Given the description of an element on the screen output the (x, y) to click on. 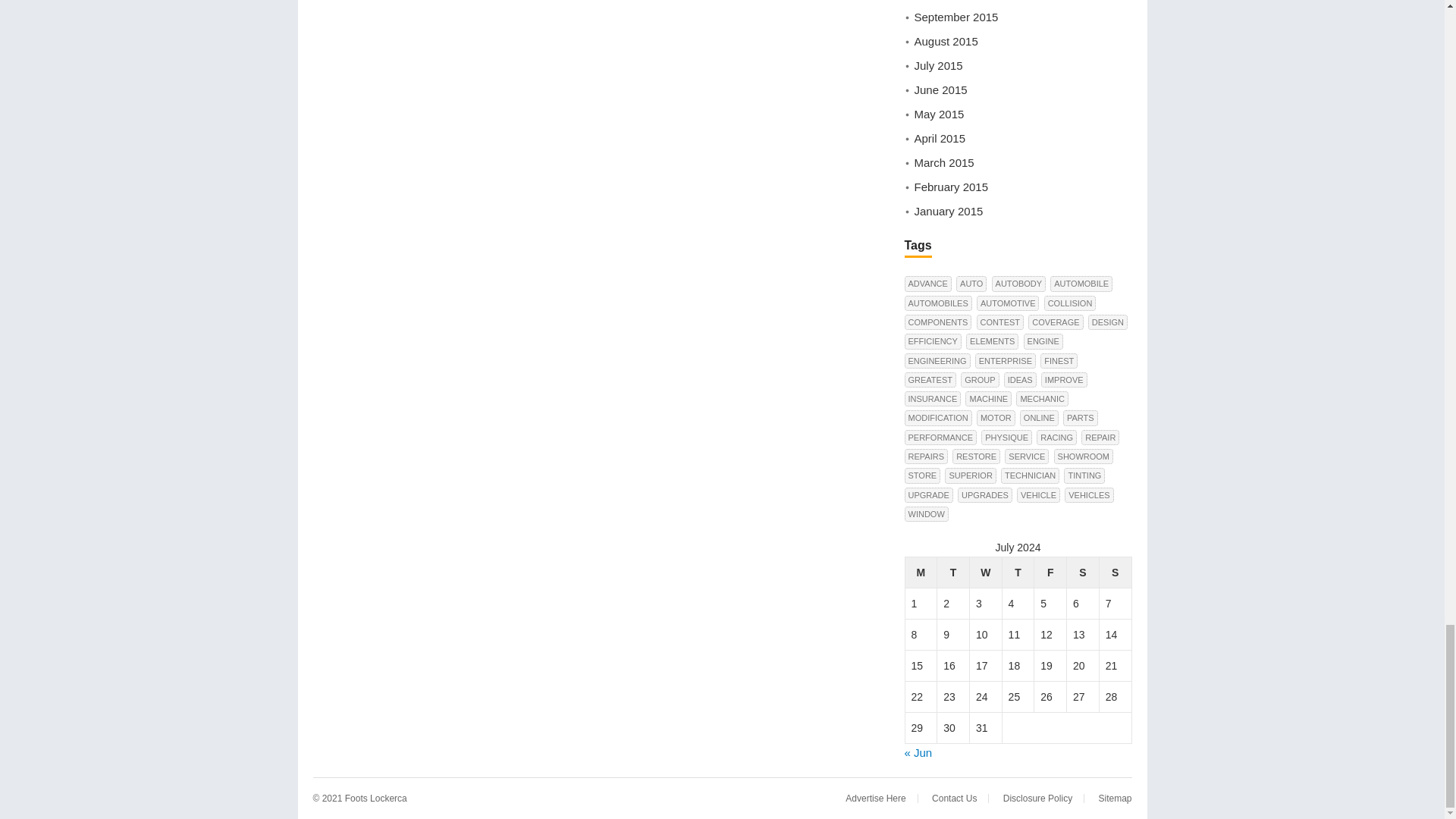
Thursday (1017, 572)
Sunday (1115, 572)
Friday (1050, 572)
Monday (920, 572)
Tuesday (953, 572)
Wednesday (985, 572)
Saturday (1083, 572)
